Given the description of an element on the screen output the (x, y) to click on. 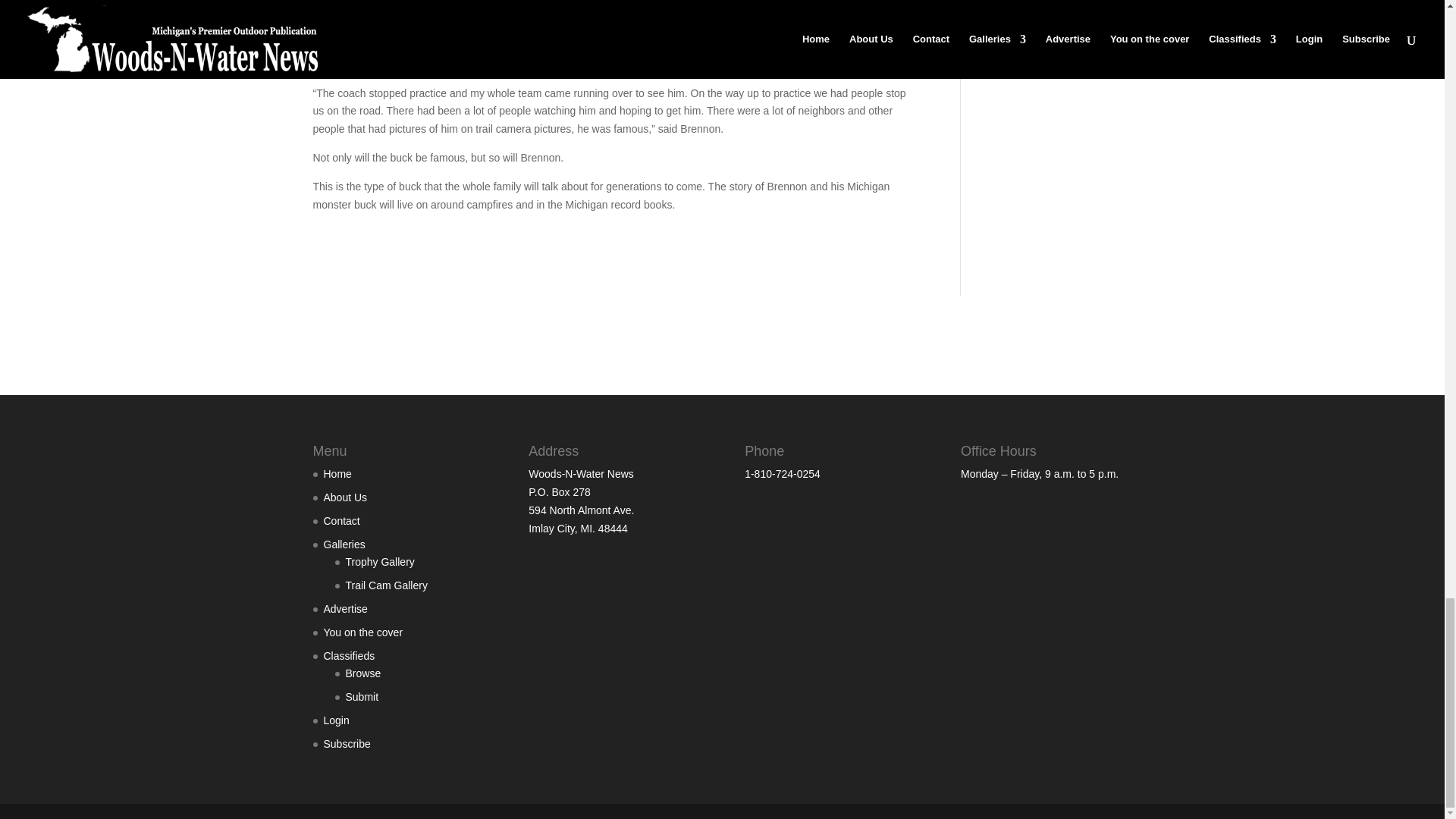
Trail Cam Gallery (387, 585)
Trophy Gallery (380, 562)
Galleries (344, 544)
Submit (362, 696)
Classifieds (348, 655)
Advertise (344, 608)
You on the cover (363, 632)
Browse (363, 673)
About Us (344, 497)
Home (336, 473)
